Given the description of an element on the screen output the (x, y) to click on. 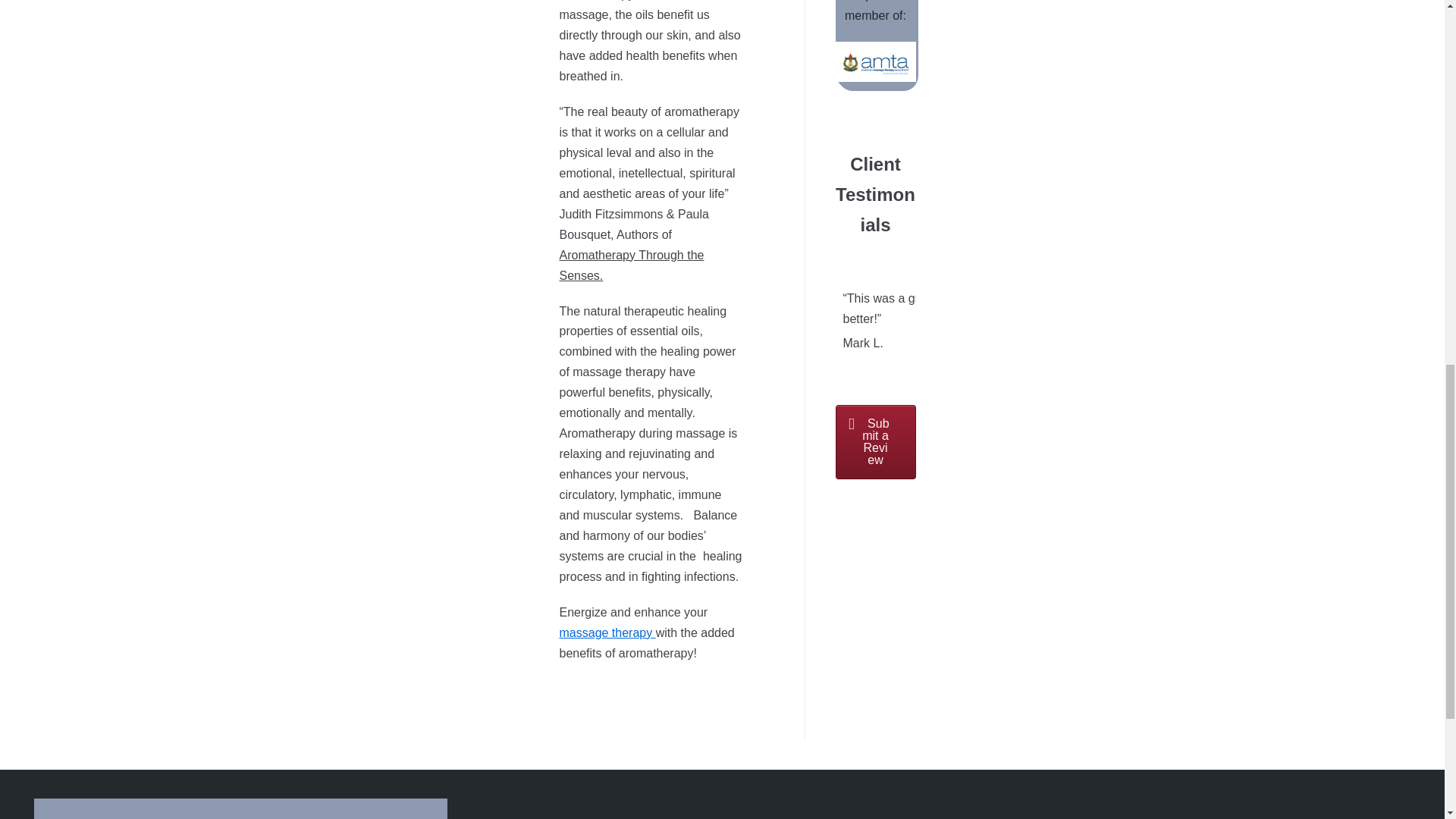
Submit a Review (875, 441)
massage therapy (607, 632)
